Given the description of an element on the screen output the (x, y) to click on. 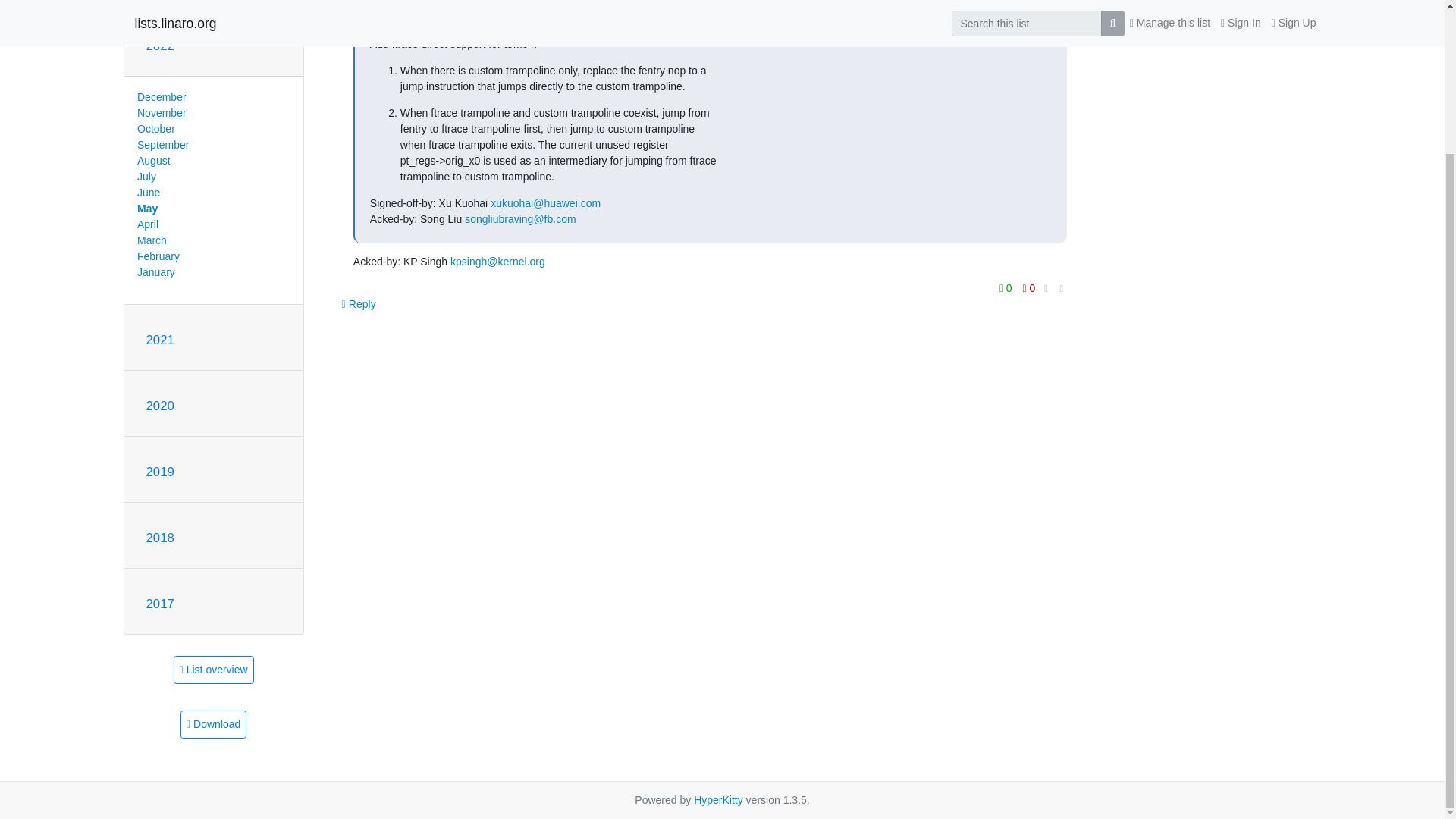
July (145, 176)
November (161, 112)
Sign in to reply online (359, 303)
October (155, 128)
August (153, 160)
You must be logged-in to vote. (1007, 288)
June (148, 192)
December (161, 96)
September (162, 144)
2022 (159, 45)
